Given the description of an element on the screen output the (x, y) to click on. 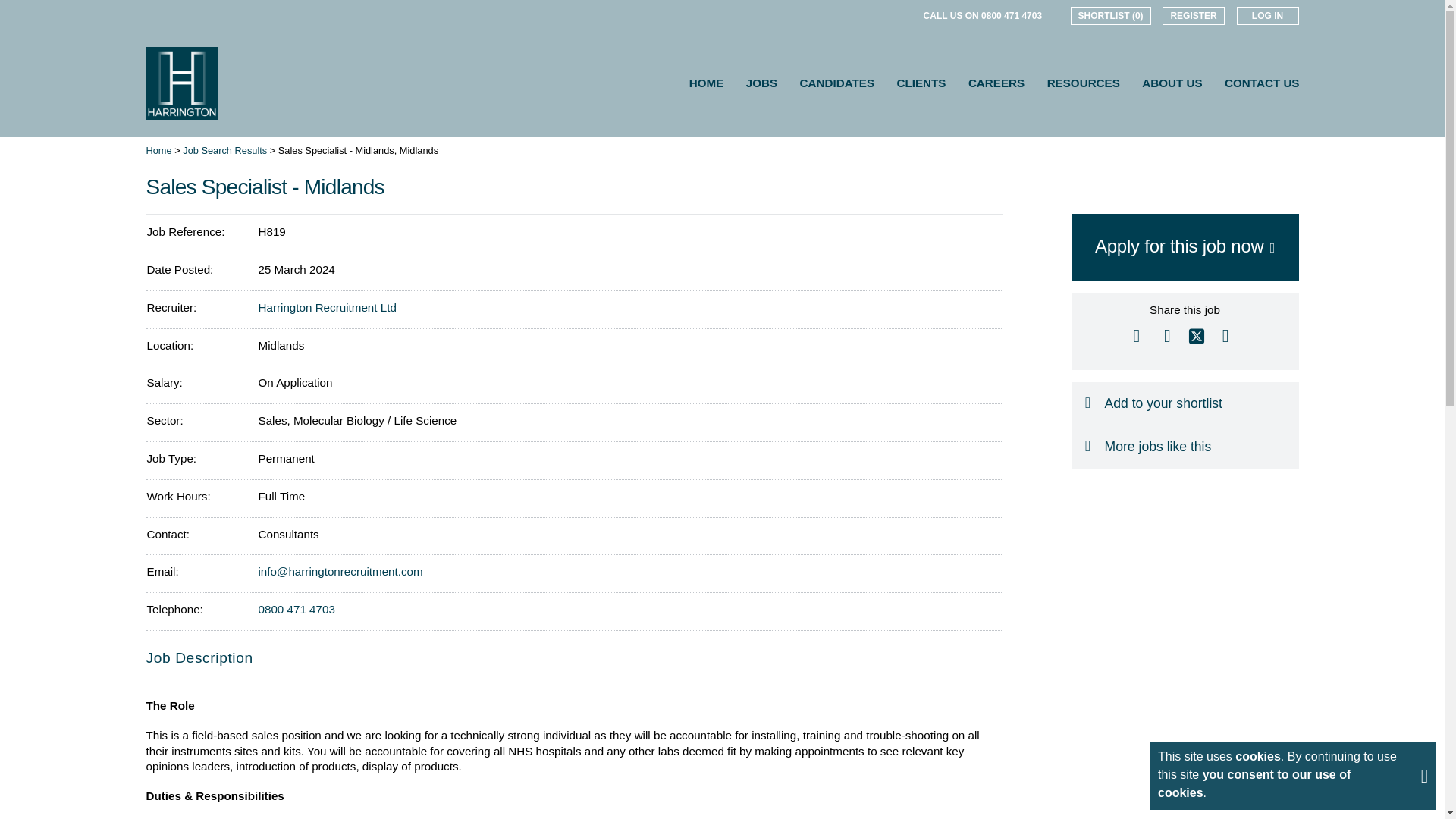
Pin us (887, 15)
CLIENTS (920, 83)
FOLLOW US ON LINKEDIN (822, 15)
Add to your shortlist (1184, 403)
CALL US ON 0800 471 4703 (982, 15)
CONTACT US (1261, 83)
Home (158, 150)
Facebook (1166, 335)
Apply for this job now (1184, 246)
PIN US (887, 15)
